Given the description of an element on the screen output the (x, y) to click on. 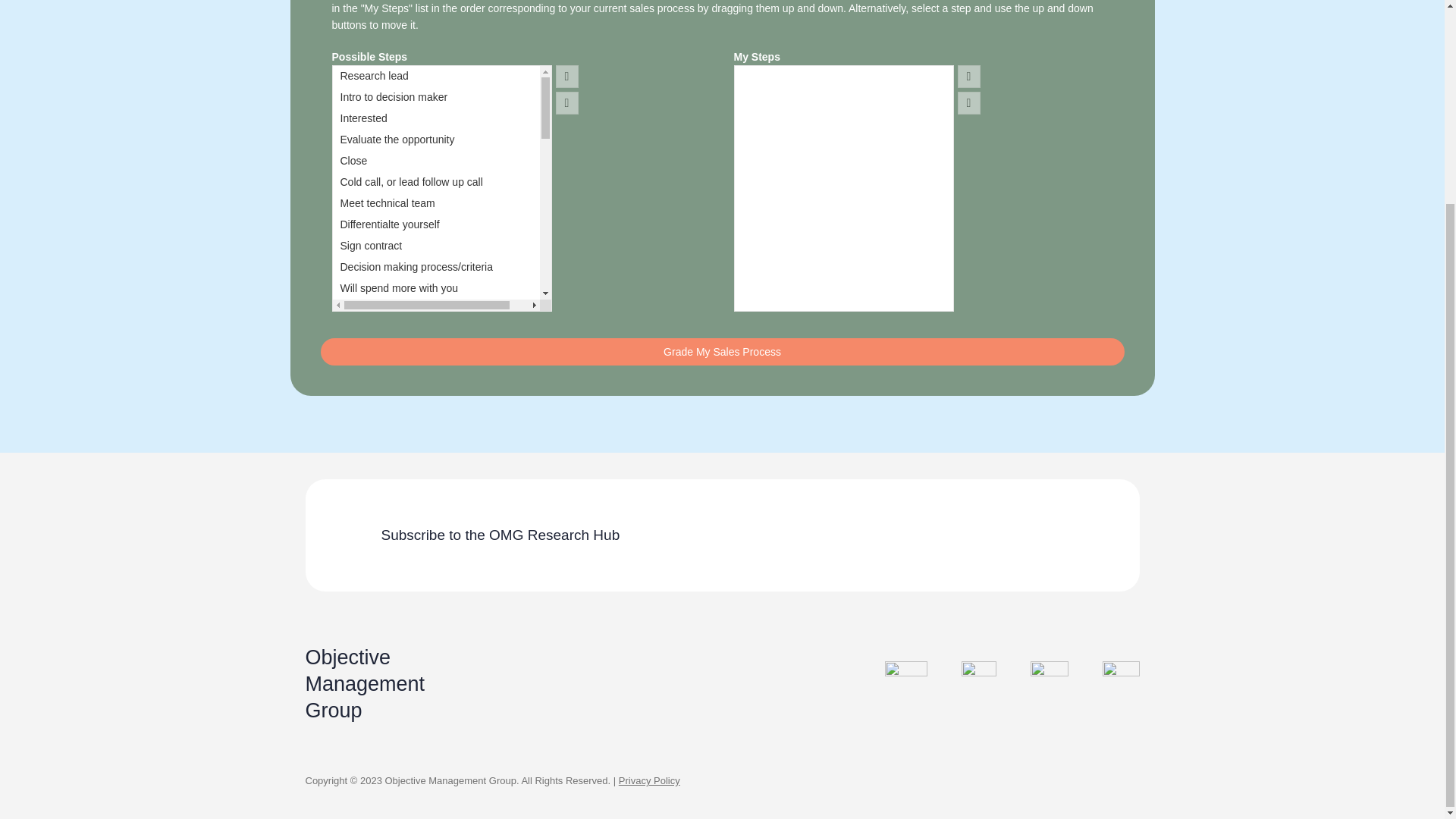
Move Up (968, 76)
Grade My Sales Process (722, 351)
To Right (567, 76)
Move Down (968, 102)
To Left (567, 102)
